Given the description of an element on the screen output the (x, y) to click on. 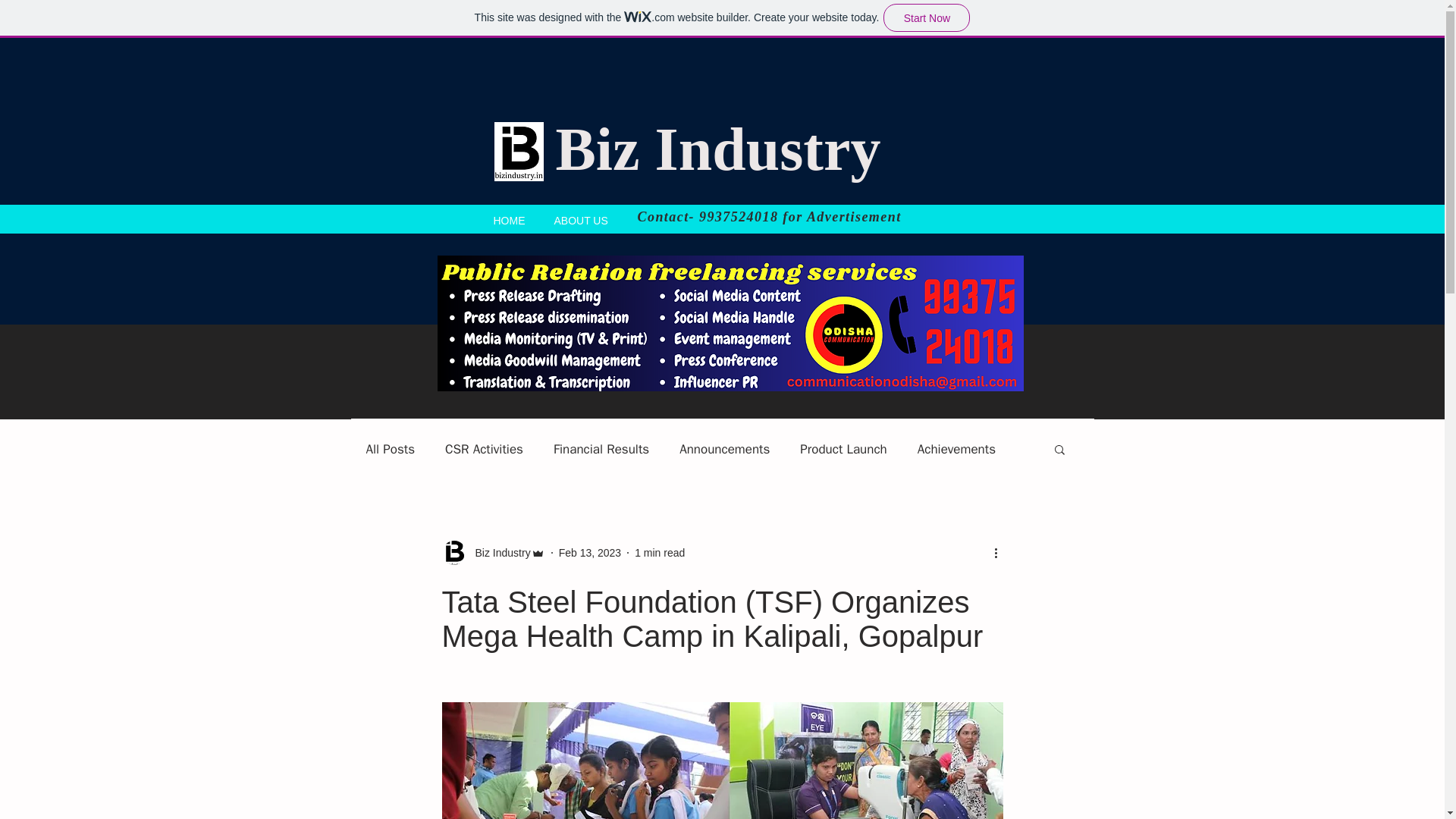
HOME (509, 218)
Biz Industry (717, 149)
CSR Activities (483, 448)
Product Launch (842, 448)
Feb 13, 2023 (590, 551)
1 min read (659, 551)
All Posts (389, 448)
Announcements (724, 448)
Biz Industry (497, 552)
ABOUT US (581, 218)
